Given the description of an element on the screen output the (x, y) to click on. 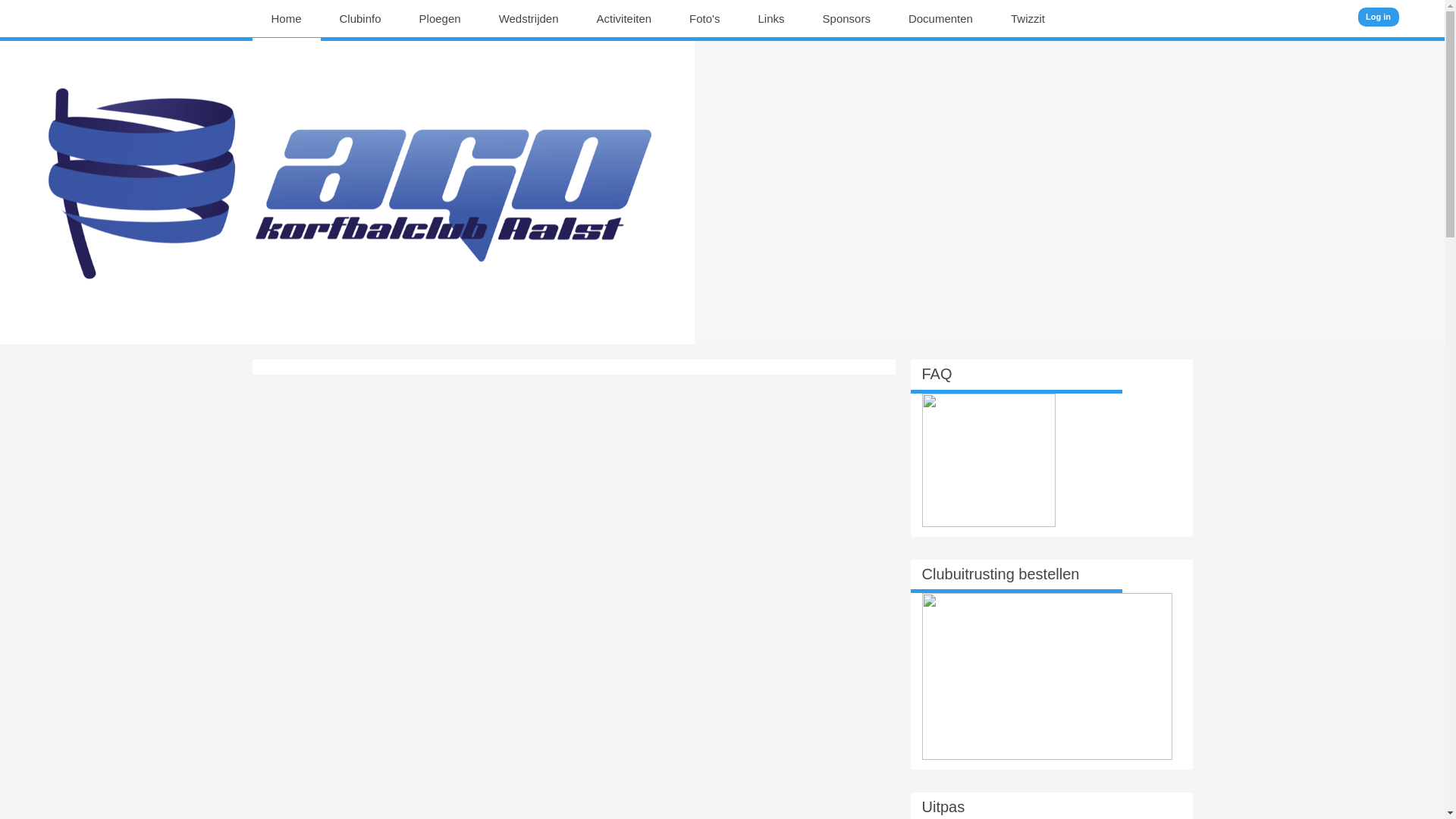
Log in Element type: text (1378, 16)
Foto's Element type: text (704, 18)
Clubinfo Element type: text (360, 18)
Activiteiten Element type: text (624, 18)
Documenten Element type: text (940, 18)
Ploegen Element type: text (440, 18)
Twizzit Element type: text (1027, 18)
Home Element type: text (286, 18)
Wedstrijden Element type: text (528, 18)
Links Element type: text (771, 18)
Sponsors Element type: text (846, 18)
